Given the description of an element on the screen output the (x, y) to click on. 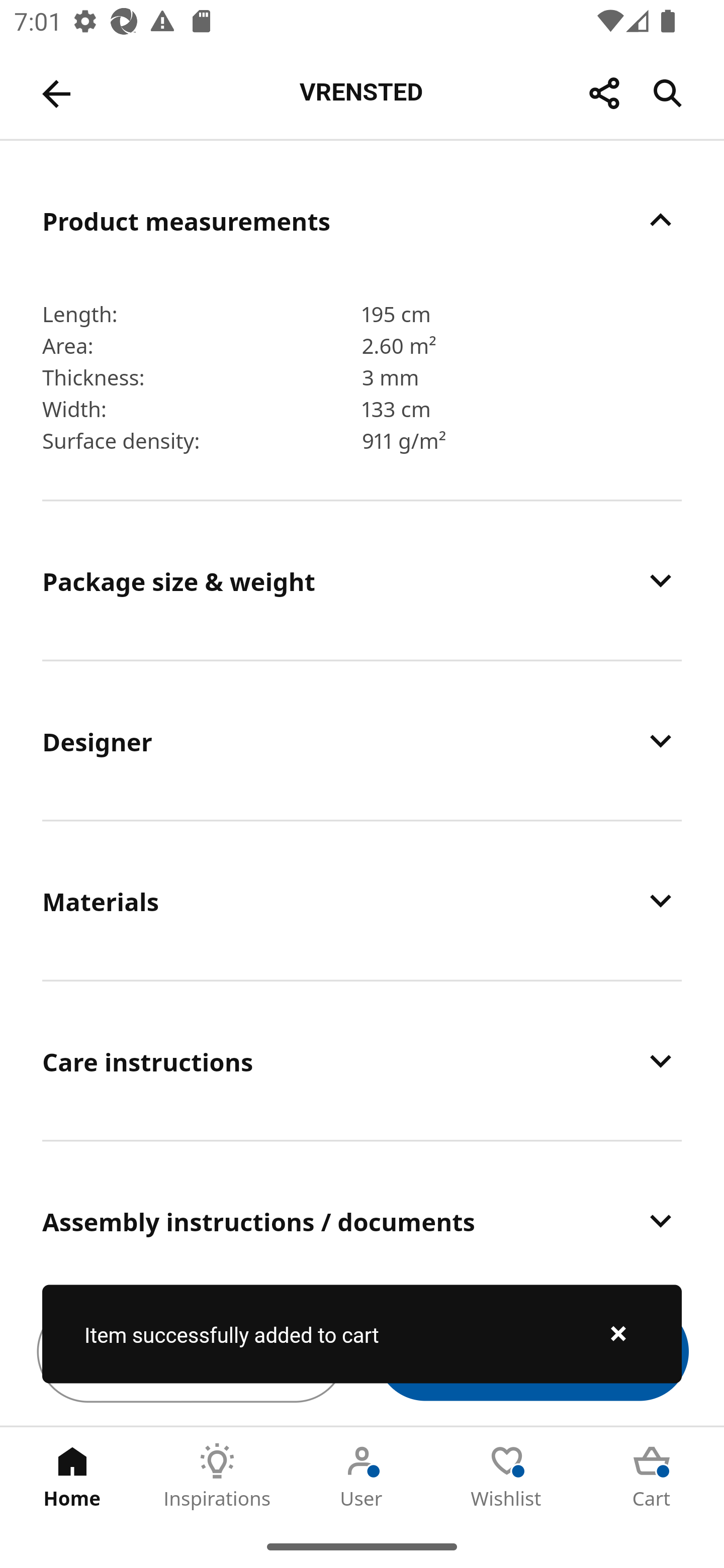
Product measurements (361, 219)
Package size & weight (361, 580)
Designer (361, 740)
Materials (361, 900)
Care instructions (361, 1060)
Assembly instructions / documents (361, 1210)
Item successfully added to cart (361, 1333)
Home
Tab 1 of 5 (72, 1476)
Inspirations
Tab 2 of 5 (216, 1476)
User
Tab 3 of 5 (361, 1476)
Wishlist
Tab 4 of 5 (506, 1476)
Cart
Tab 5 of 5 (651, 1476)
